Given the description of an element on the screen output the (x, y) to click on. 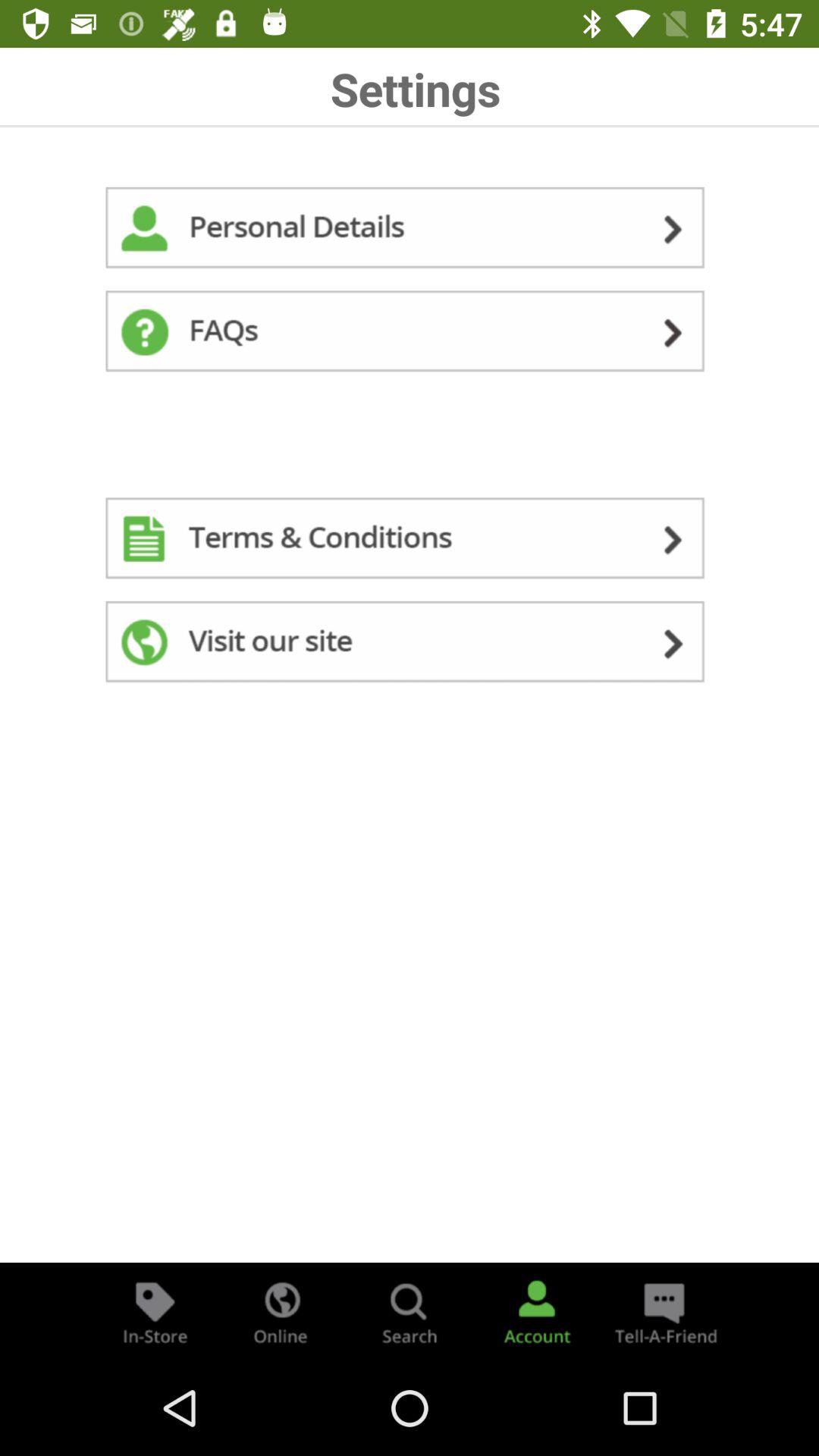
in-store (154, 1311)
